Given the description of an element on the screen output the (x, y) to click on. 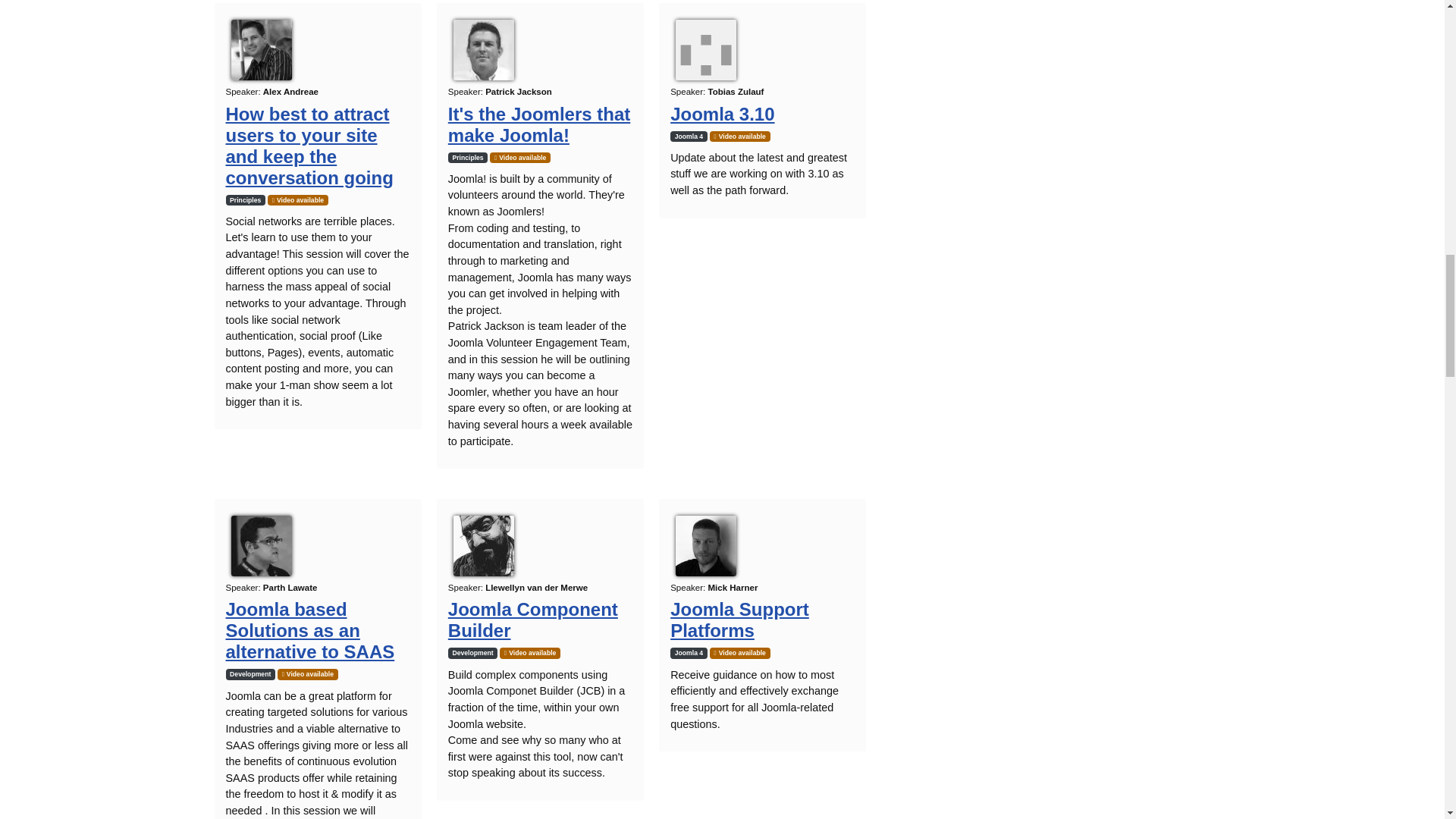
Joomla Support Platforms (739, 619)
Joomla 3.10 (721, 114)
Joomla based Solutions as an alternative to SAAS (309, 629)
It's the Joomlers that make Joomla! (539, 124)
Joomla Component Builder (532, 619)
